Given the description of an element on the screen output the (x, y) to click on. 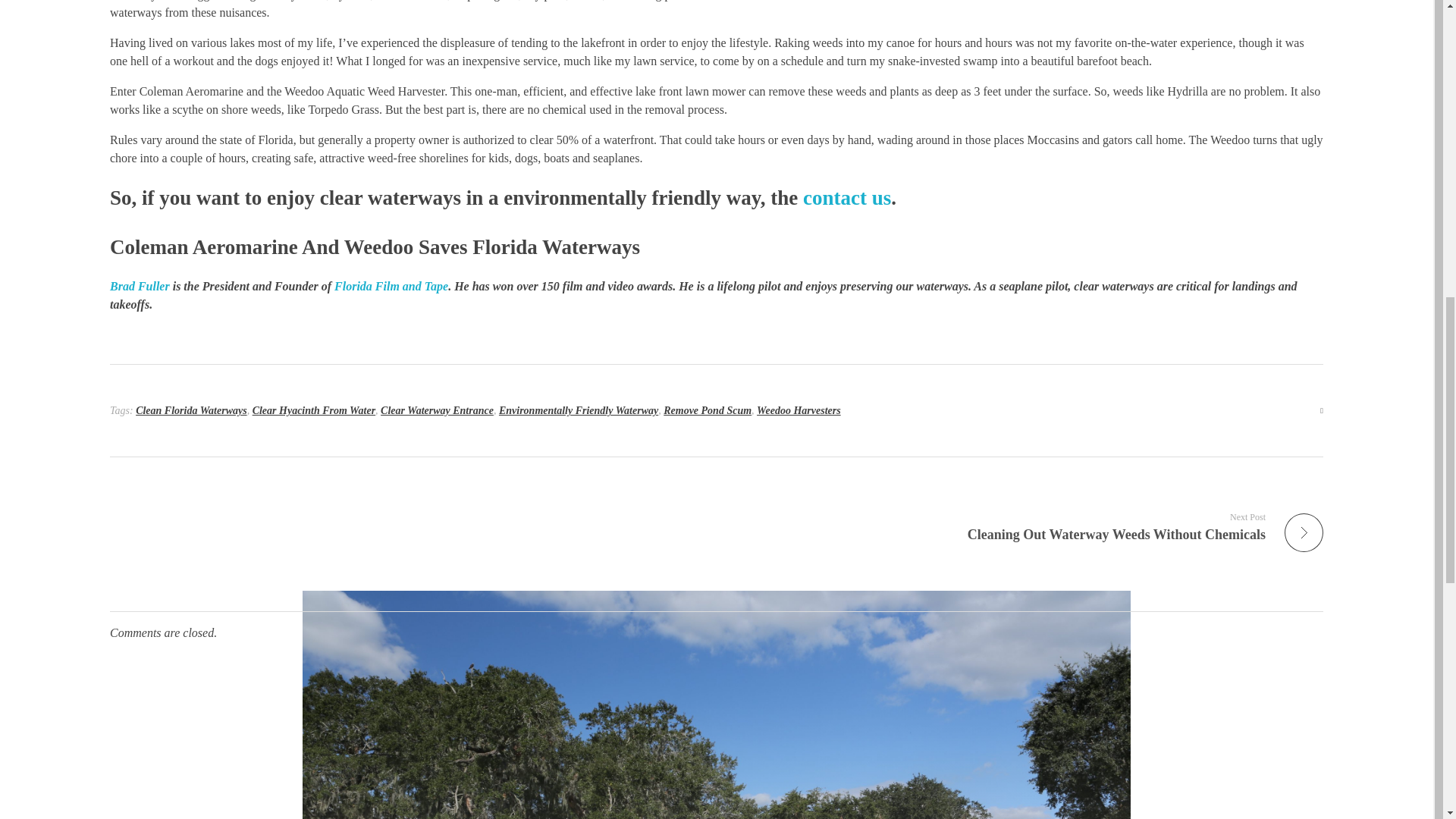
Clear Waterway Entrance (436, 410)
Clear Hyacinth From Water (313, 410)
contact us (847, 197)
Brad Fuller (140, 286)
Clean Florida Waterways (191, 410)
Weedoo Harvesters (799, 410)
Environmentally Friendly Waterway (578, 410)
Florida Film and Tape (391, 286)
